Given the description of an element on the screen output the (x, y) to click on. 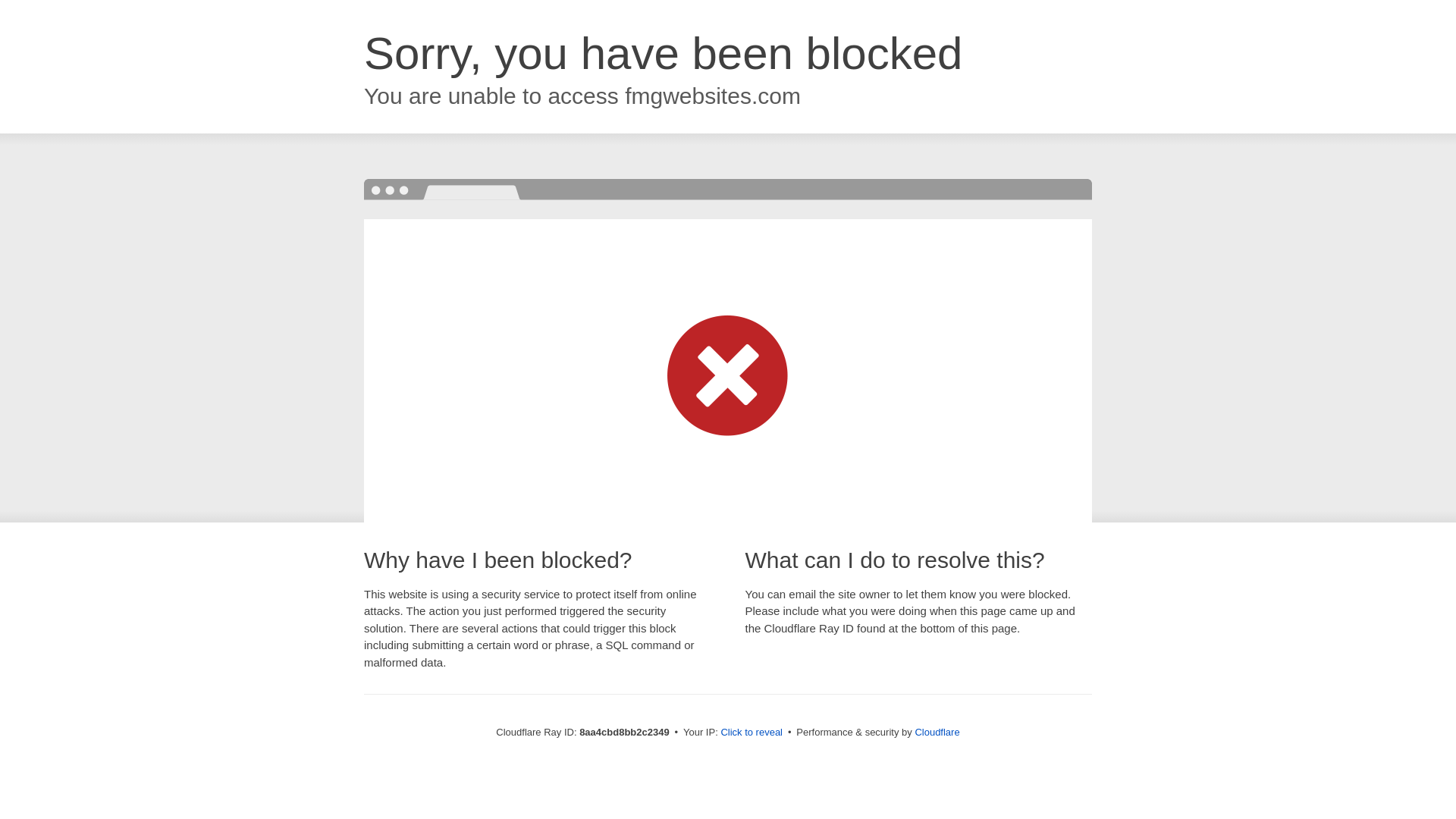
Cloudflare (936, 731)
Click to reveal (751, 732)
